Given the description of an element on the screen output the (x, y) to click on. 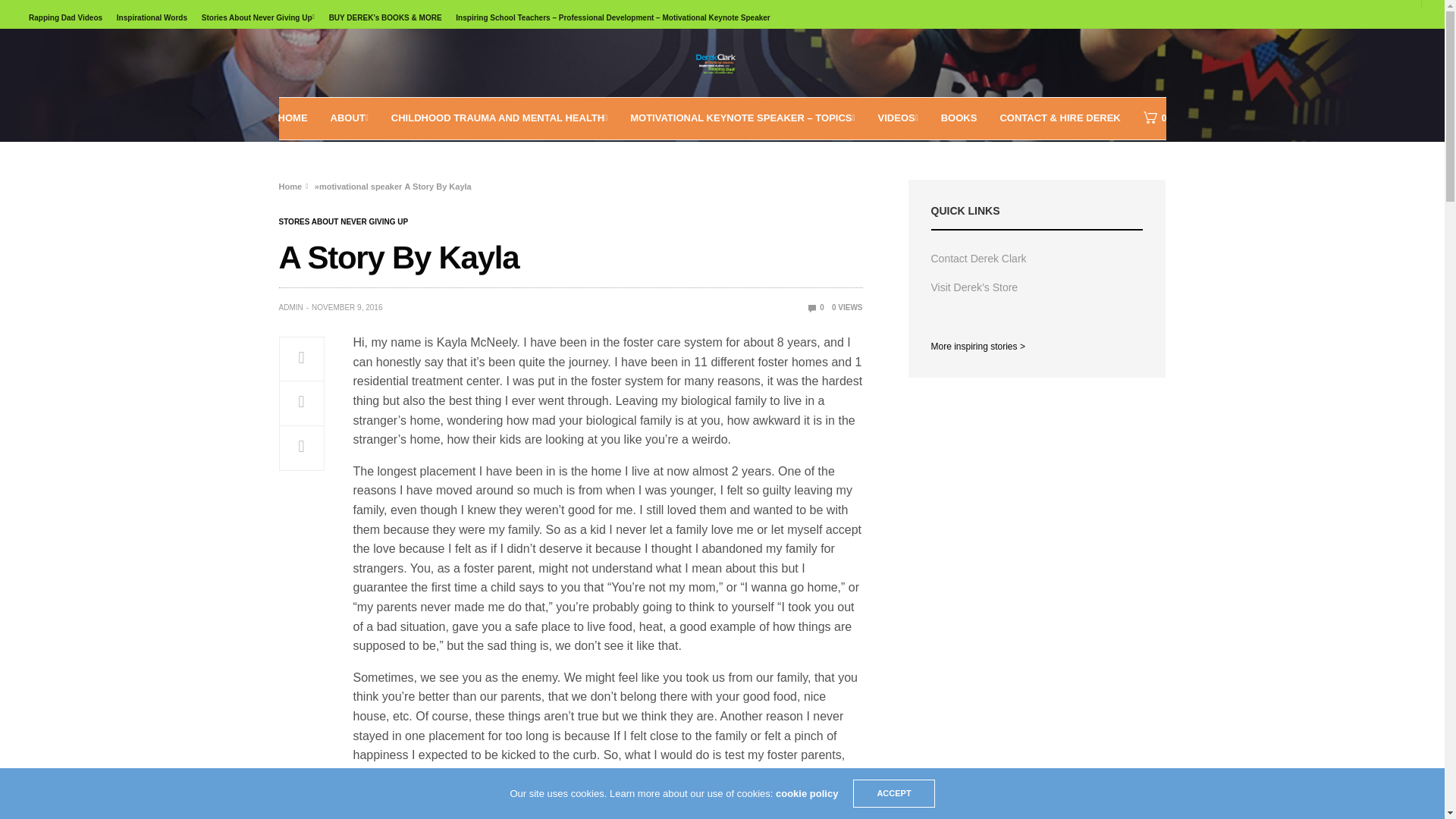
Rapping Dad Videos (65, 17)
CHILDHOOD TRAUMA AND MENTAL HEALTH (499, 118)
Stories About Never Giving Up (257, 17)
Stores About Never Giving Up (344, 222)
ABOUT (349, 118)
Inspirational Words (151, 17)
A Story By Kayla (816, 307)
HOME (292, 118)
Posts by admin (290, 307)
